Given the description of an element on the screen output the (x, y) to click on. 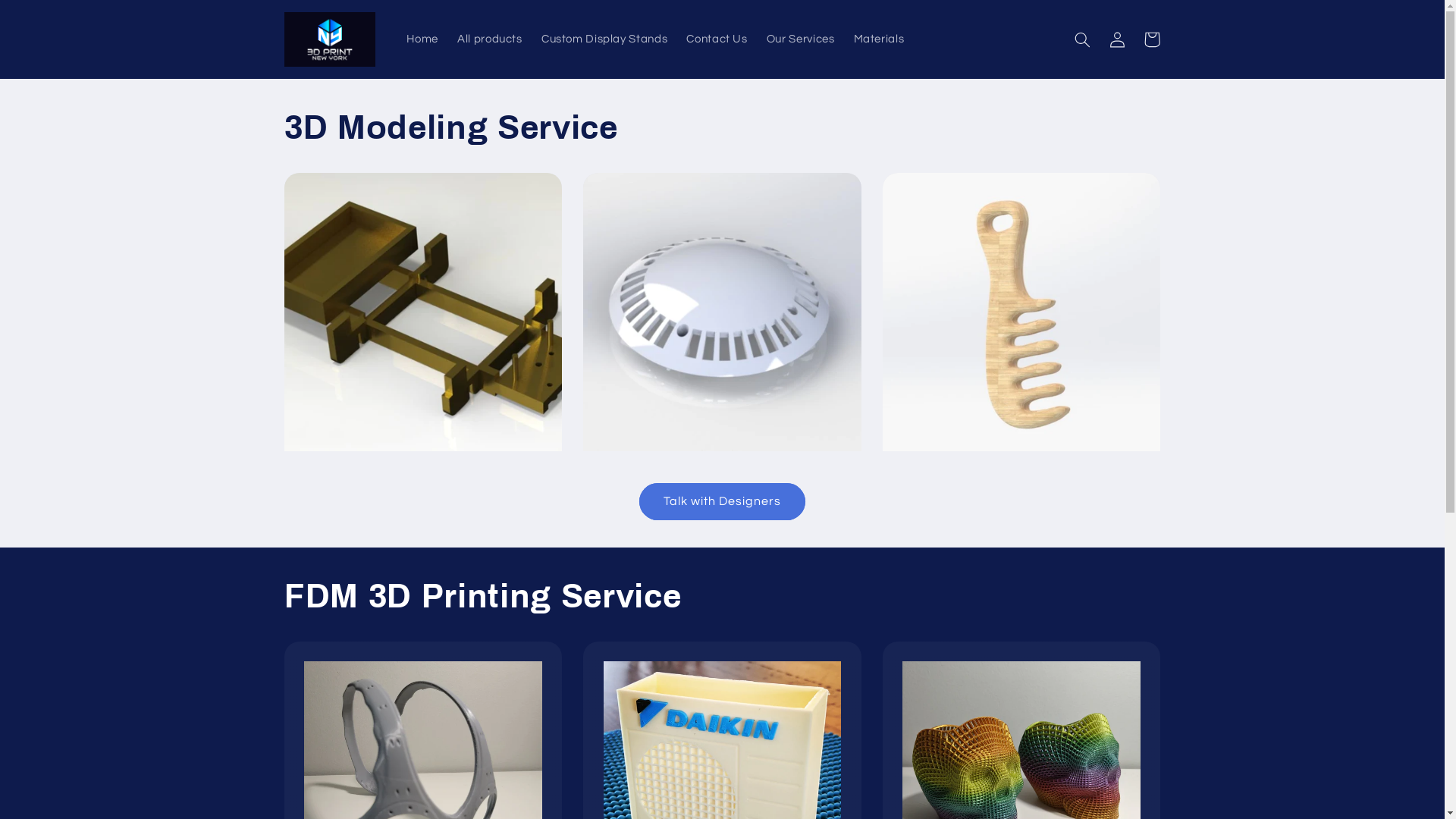
All products Element type: text (490, 39)
Log in Element type: text (1116, 38)
Cart Element type: text (1151, 38)
Our Services Element type: text (800, 39)
Custom Display Stands Element type: text (603, 39)
Materials Element type: text (878, 39)
Home Element type: text (422, 39)
Contact Us Element type: text (717, 39)
Talk with Designers Element type: text (722, 501)
